Given the description of an element on the screen output the (x, y) to click on. 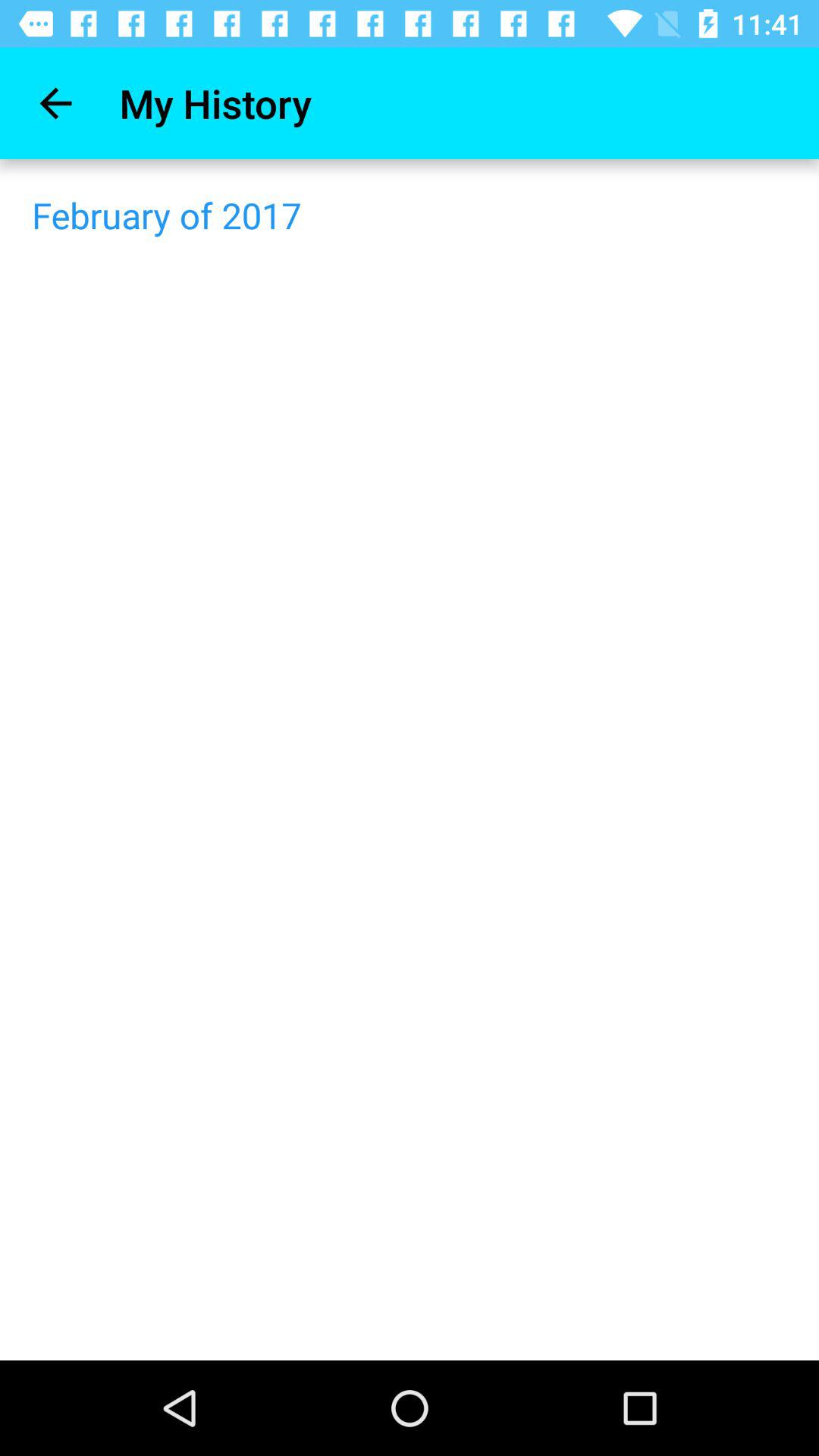
swipe to february of 2017 item (166, 215)
